Given the description of an element on the screen output the (x, y) to click on. 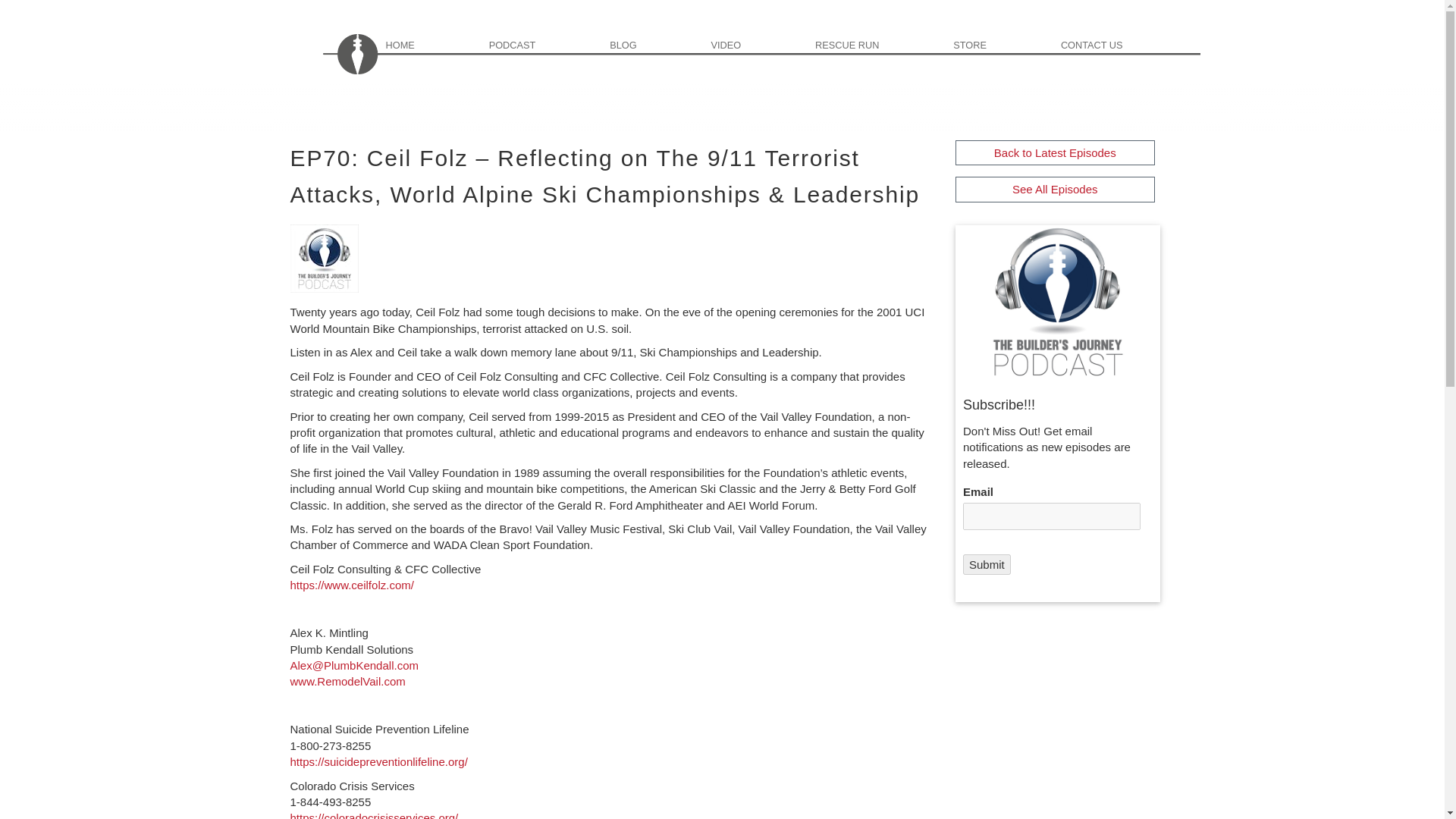
Store (1003, 43)
Rescue Run (879, 43)
Contact Us (1124, 43)
CONTACT US (1124, 43)
Podcast (544, 43)
Home (431, 43)
RESCUE RUN (879, 43)
HOME (431, 43)
See All Episodes (1054, 188)
Submit (986, 564)
Submit (986, 564)
www.RemodelVail.com (346, 680)
Blog (655, 43)
VIDEO (758, 43)
STORE (1003, 43)
